Given the description of an element on the screen output the (x, y) to click on. 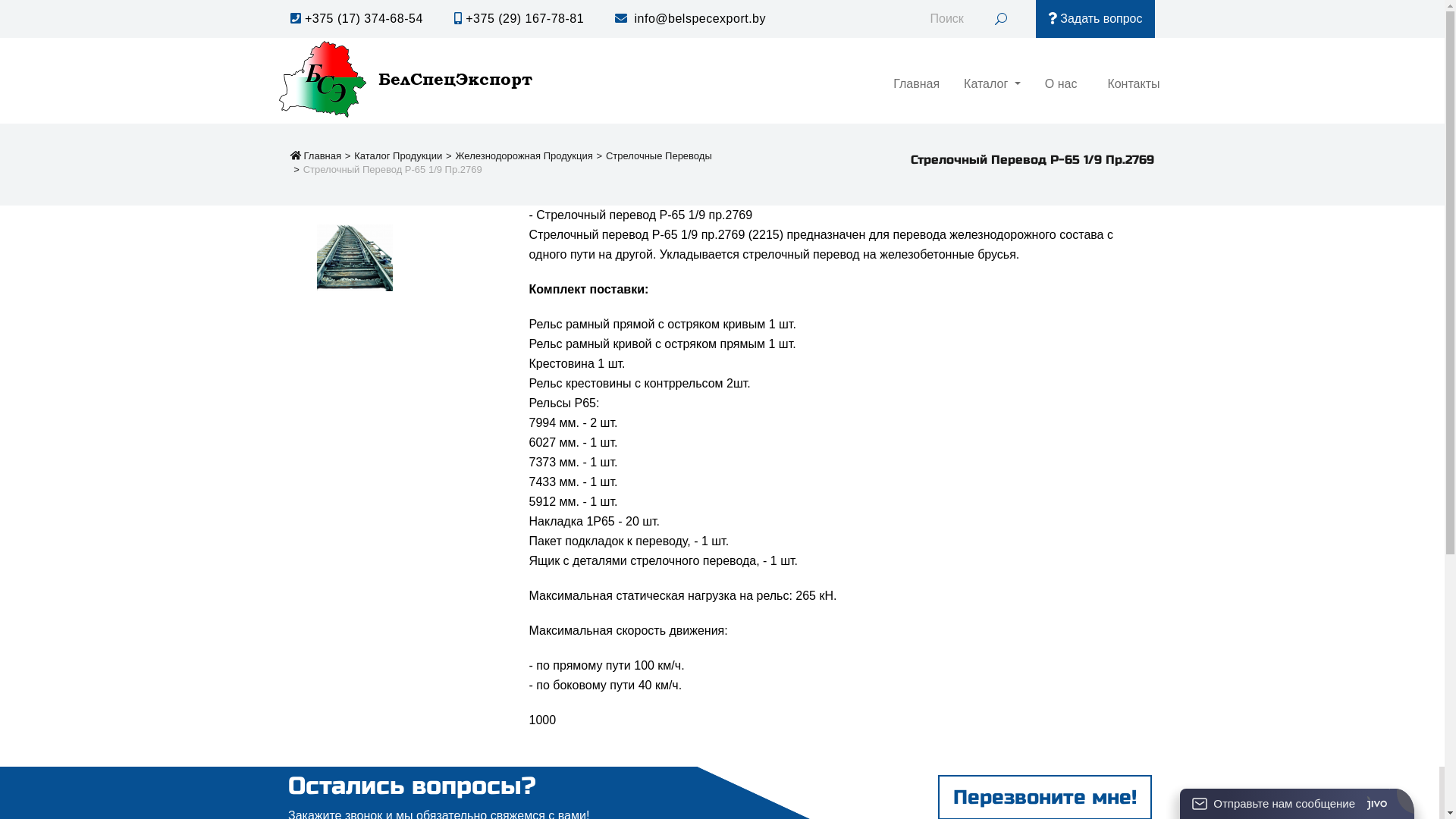
icon
info@belspecexport.by Element type: text (690, 18)
+375 (17) 374-68-54 Element type: text (355, 18)
+375 (29) 167-78-81 Element type: text (518, 18)
